Given the description of an element on the screen output the (x, y) to click on. 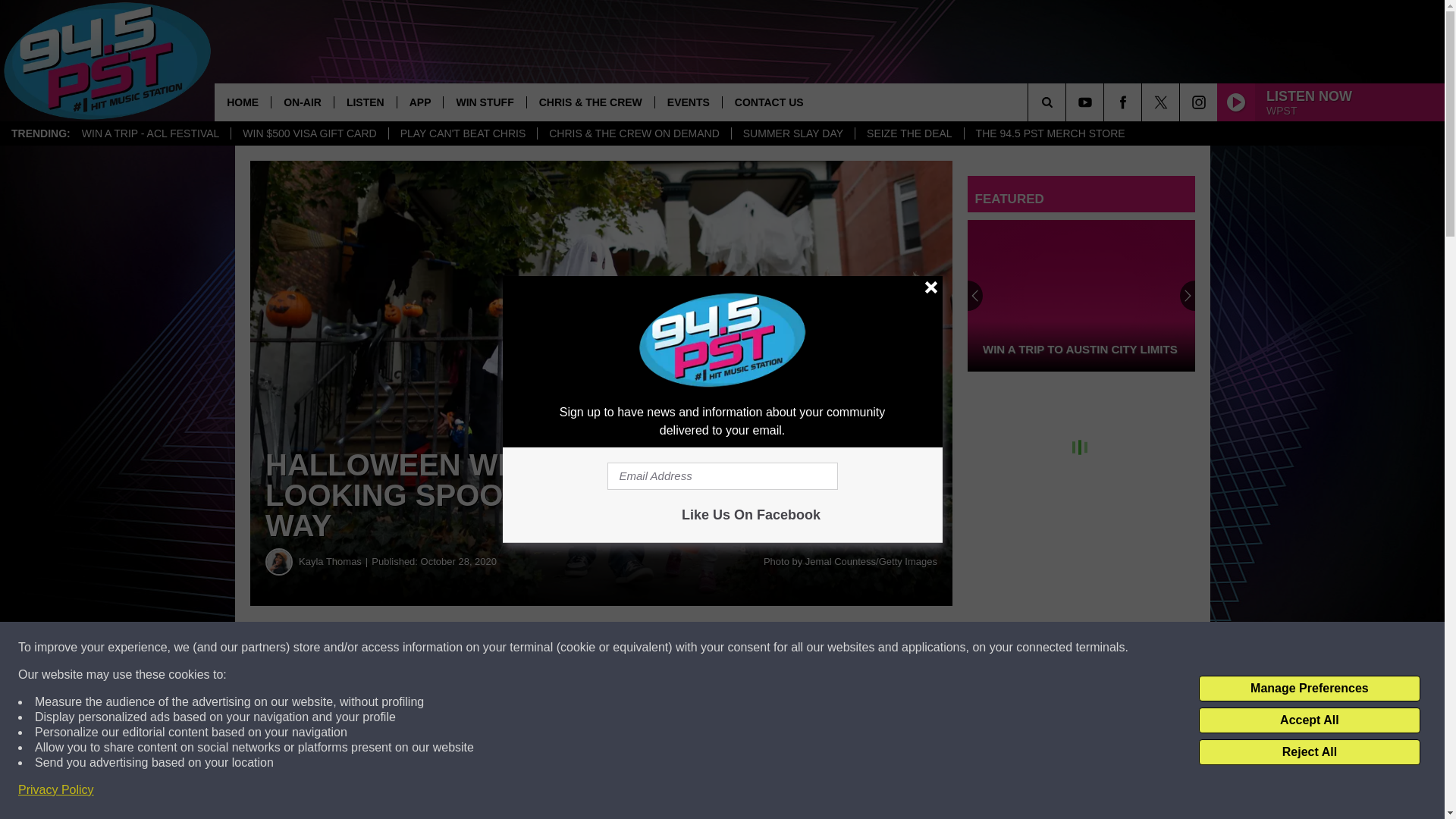
Print this page (787, 647)
WIN A TRIP - ACL FESTIVAL (150, 133)
WIN STUFF (483, 102)
Accept All (1309, 720)
Email Address (722, 475)
SEIZE THE DEAL (908, 133)
HOME (242, 102)
APP (420, 102)
ON-AIR (301, 102)
SEARCH (1068, 102)
THE 94.5 PST MERCH STORE (1050, 133)
PLAY CAN'T BEAT CHRIS (462, 133)
Share on Twitter (600, 647)
Share on Facebook (413, 647)
Manage Preferences (1309, 688)
